Given the description of an element on the screen output the (x, y) to click on. 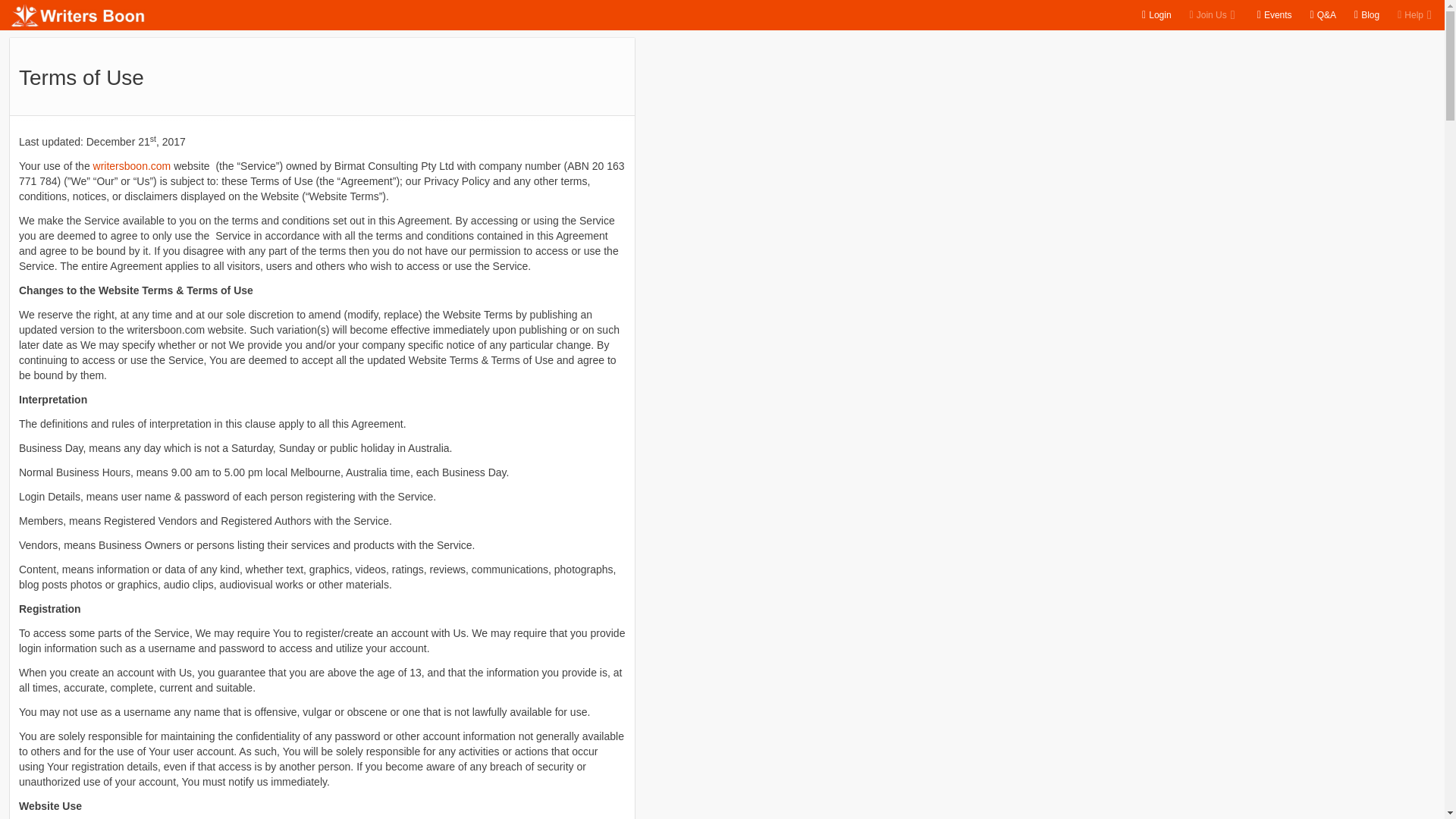
writersboon.com (132, 165)
